Given the description of an element on the screen output the (x, y) to click on. 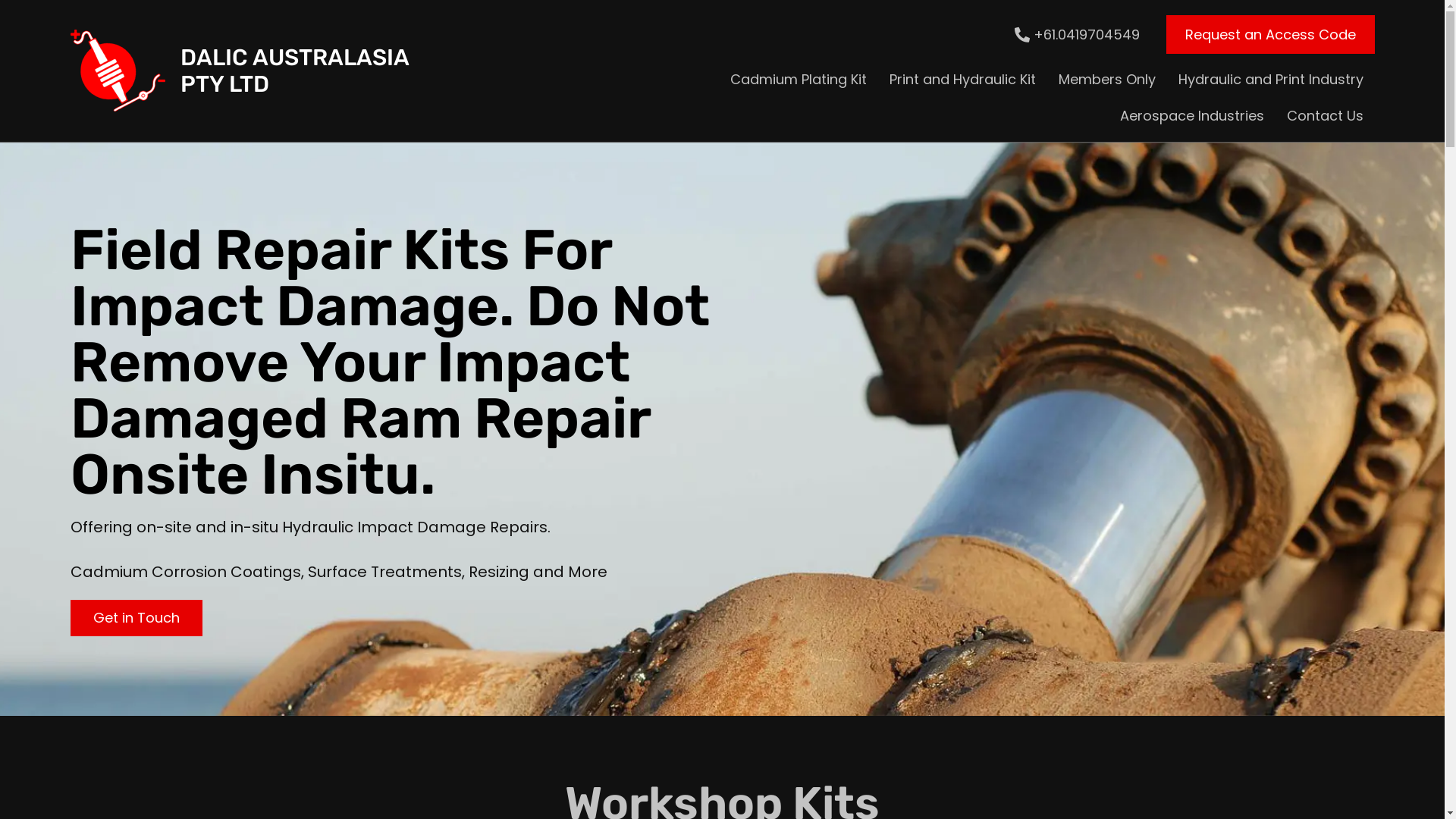
Request an Access Code Element type: text (1270, 34)
+61.0419704549 Element type: text (1074, 34)
Get in Touch Element type: text (135, 617)
Aerospace Industries Element type: text (1191, 115)
Print and Hydraulic Kit Element type: text (962, 79)
Members Only Element type: text (1107, 79)
Hydraulic and Print Industry Element type: text (1270, 79)
Contact Us Element type: text (1325, 115)
Cadmium Plating Kit Element type: text (798, 79)
DALIC AUSTRALASIA PTY LTD Element type: hover (116, 70)
